Given the description of an element on the screen output the (x, y) to click on. 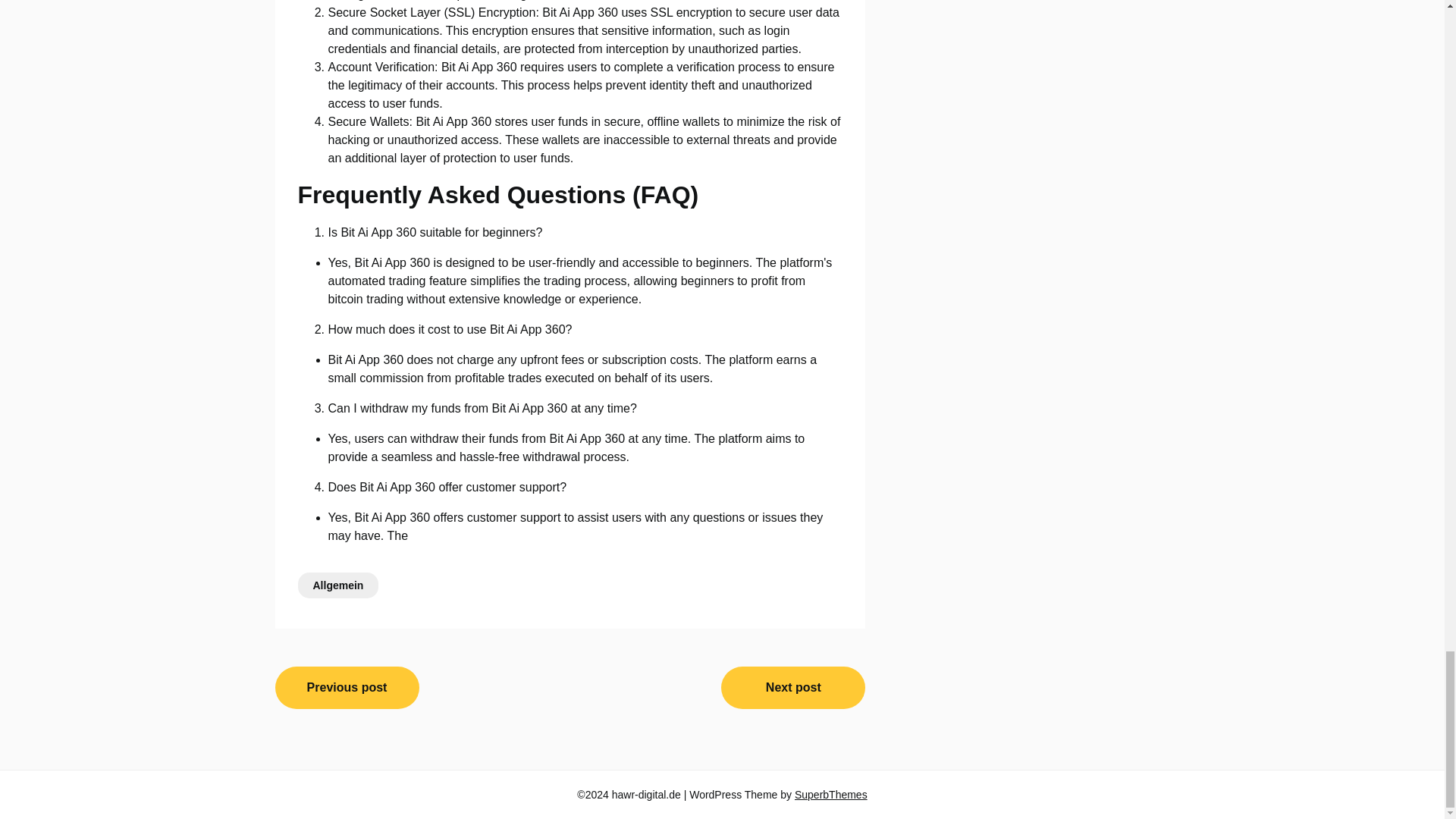
Previous post (347, 686)
Next post (792, 686)
Allgemein (337, 584)
